Given the description of an element on the screen output the (x, y) to click on. 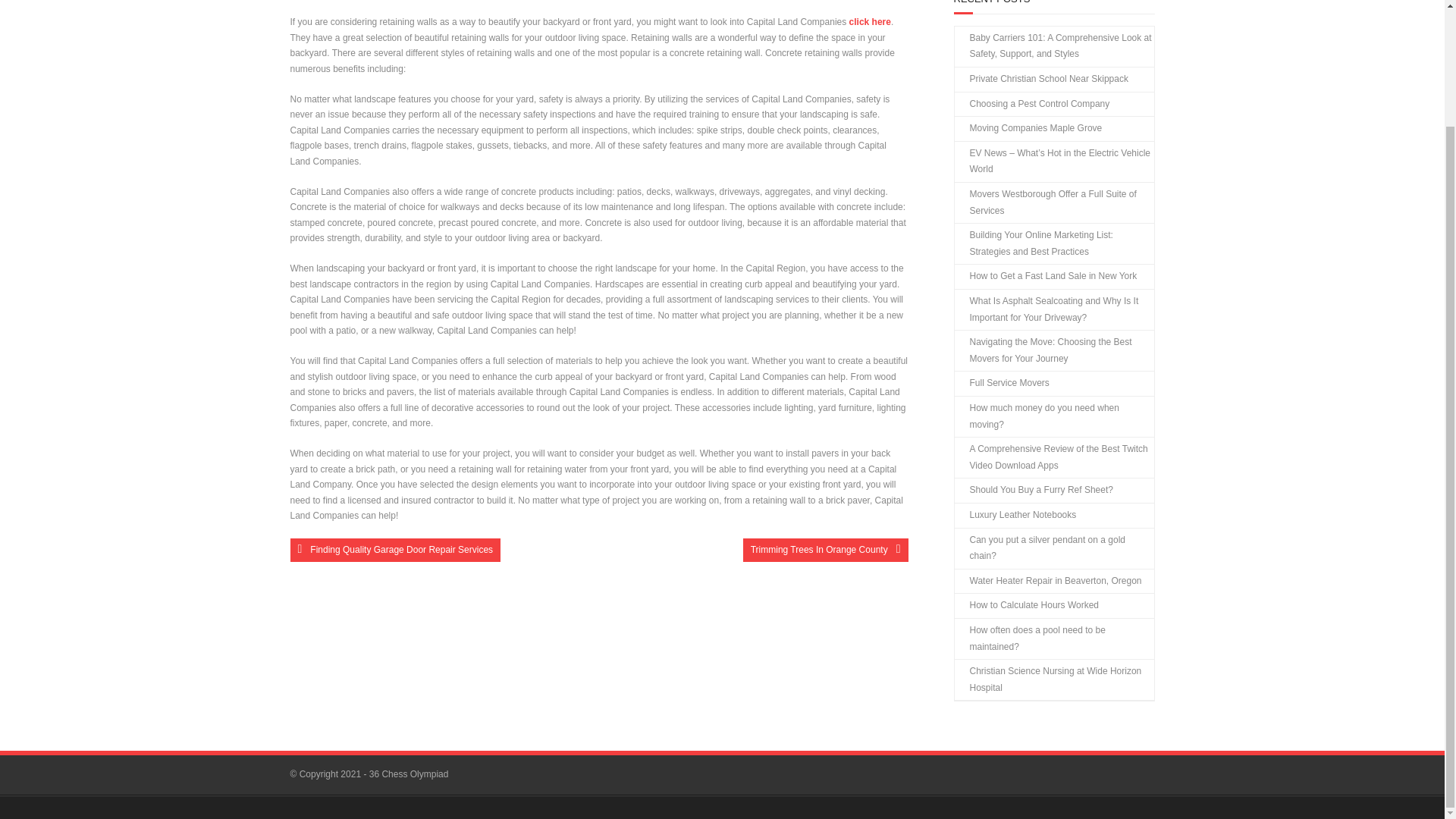
Movers Westborough Offer a Full Suite of Services (1053, 202)
How to Calculate Hours Worked (1026, 605)
Moving Companies Maple Grove (1027, 128)
Luxury Leather Notebooks (1014, 515)
Should You Buy a Furry Ref Sheet? (1032, 490)
How often does a pool need to be maintained? (1053, 639)
